Given the description of an element on the screen output the (x, y) to click on. 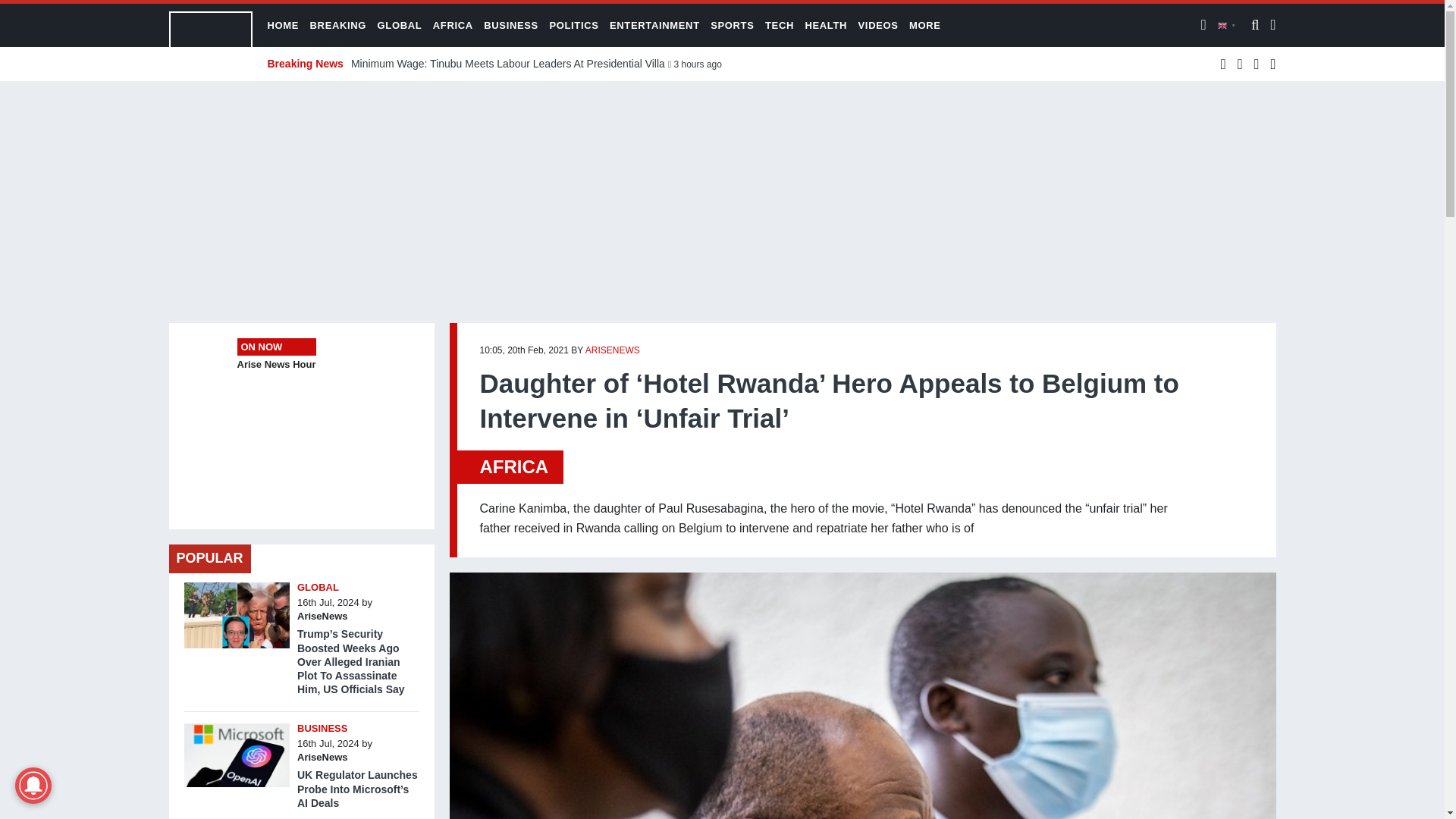
Posts by AriseNews (612, 349)
ARISENEWS (612, 349)
BUSINESS (322, 727)
Posts by AriseNews (322, 756)
Posts by AriseNews (322, 615)
AriseNews (322, 615)
AFRICA (513, 466)
AriseNews (322, 756)
GLOBAL (318, 586)
